Given the description of an element on the screen output the (x, y) to click on. 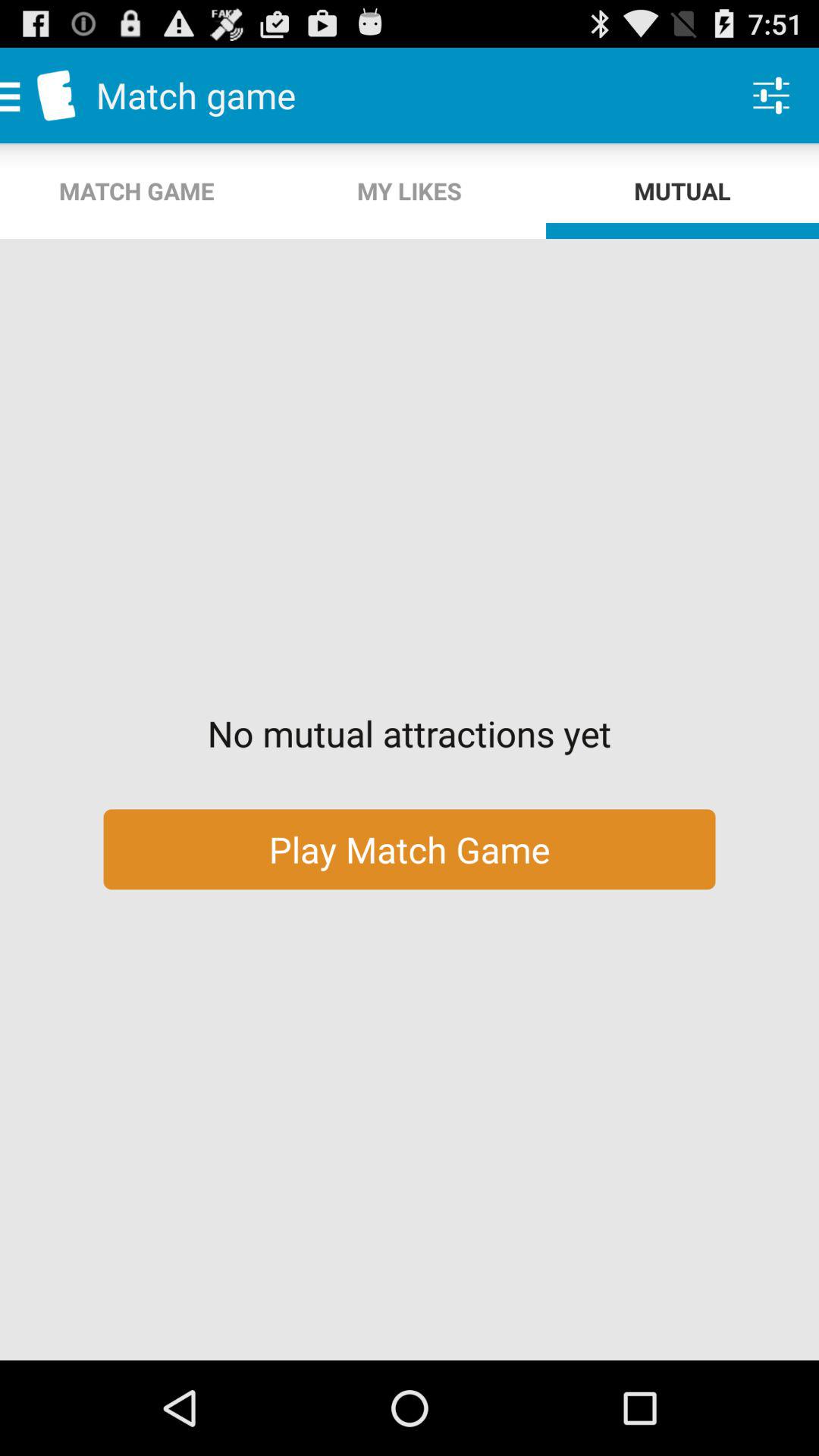
launch the app to the right of the my likes item (771, 95)
